Given the description of an element on the screen output the (x, y) to click on. 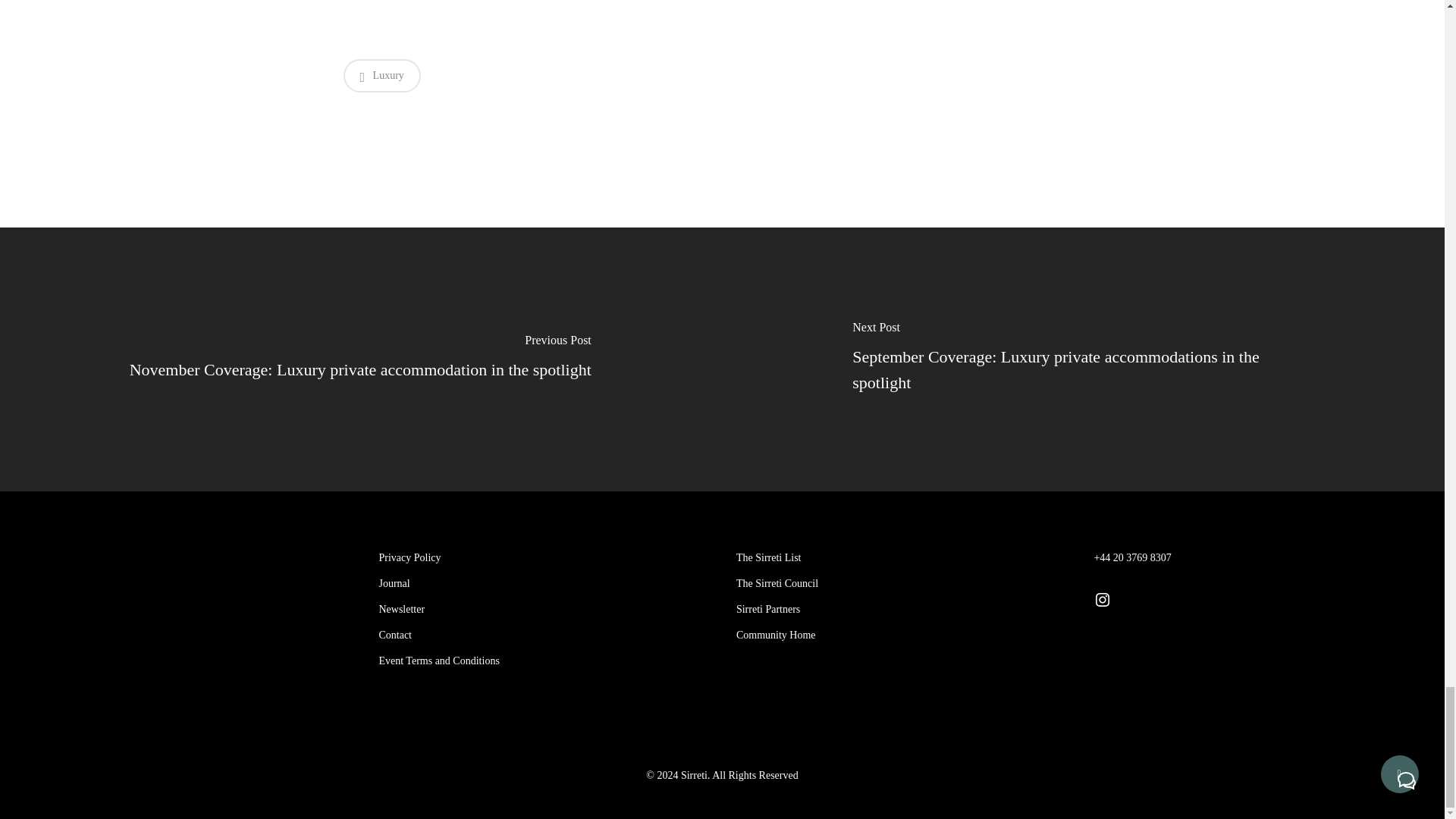
Event Terms and Conditions (542, 660)
Community Home (900, 635)
Sirreti Partners (900, 609)
Luxury (381, 75)
Journal (542, 583)
The Sirreti List (900, 557)
Instagram (1102, 599)
The Sirreti Council (900, 583)
Privacy Policy (542, 557)
Contact (542, 635)
Newsletter (542, 609)
